Given the description of an element on the screen output the (x, y) to click on. 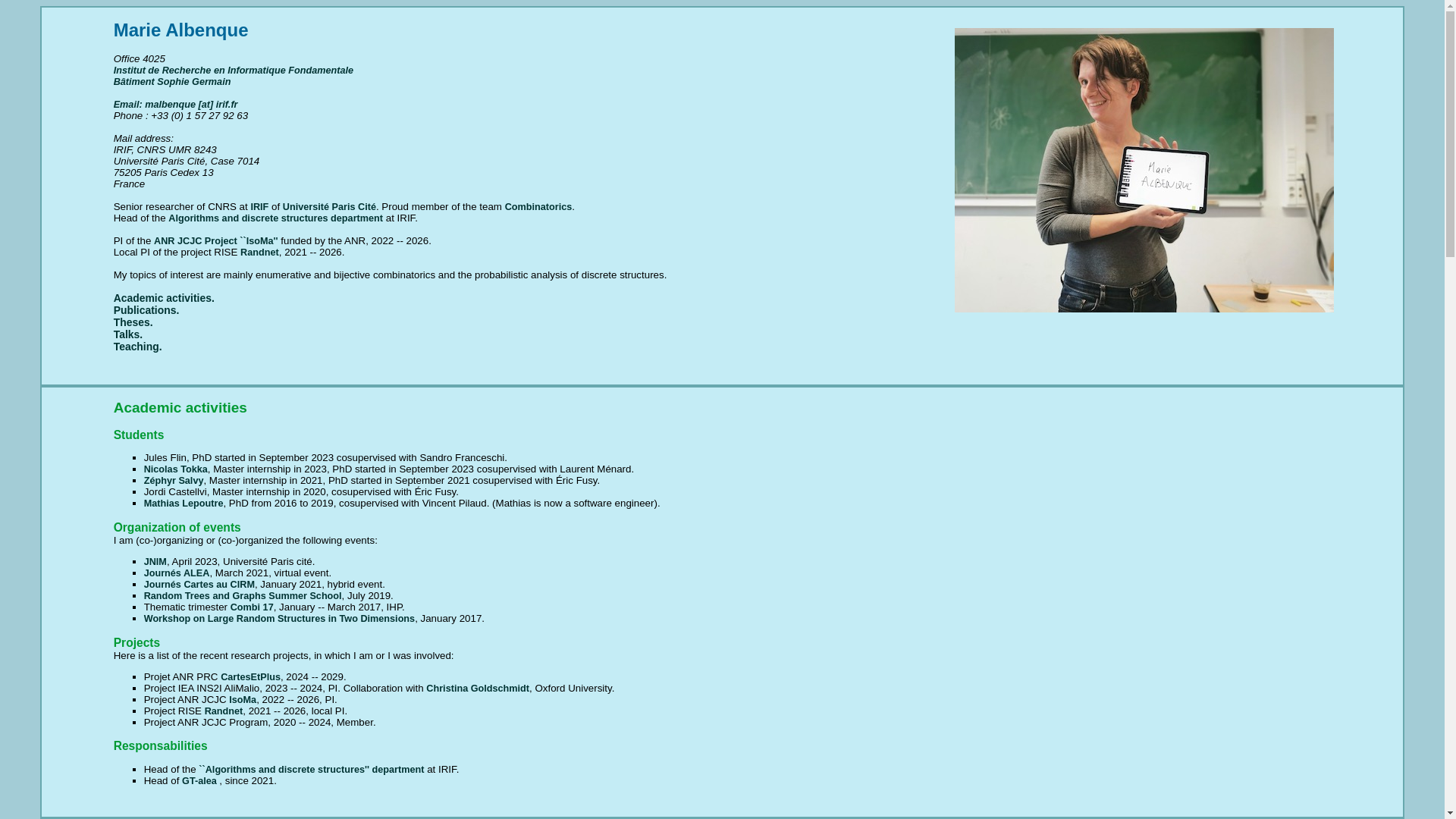
JNIM (155, 561)
IRIF (258, 206)
Nicolas Tokka (176, 469)
Theses. (132, 322)
Teaching. (137, 346)
Combinatorics (538, 206)
IsoMa (242, 699)
Workshop on Large Random Structures in Two Dimensions (279, 618)
Random Trees and Graphs Summer School (243, 595)
Combi 17 (251, 606)
